Given the description of an element on the screen output the (x, y) to click on. 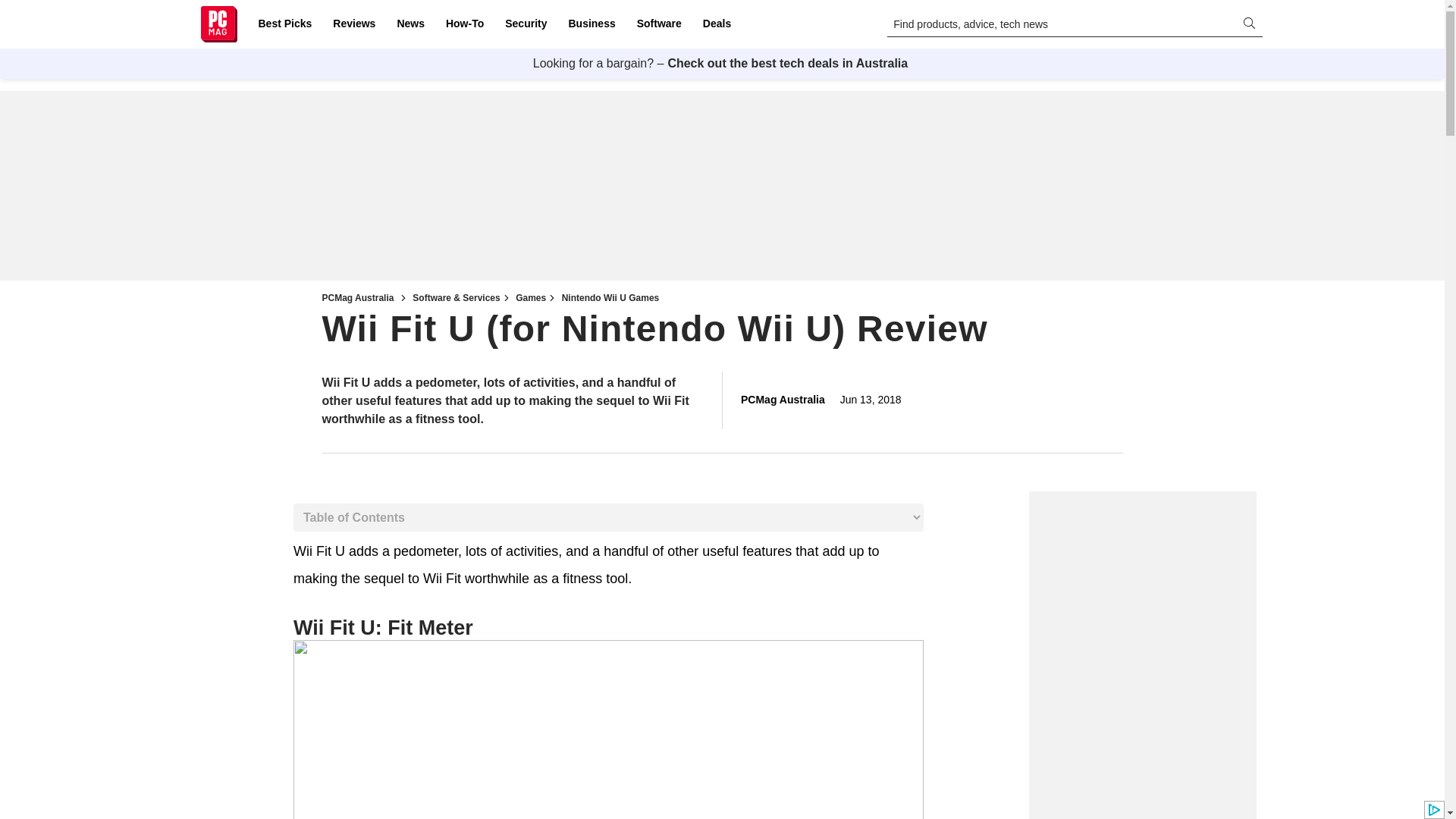
Business (591, 24)
Best Picks (284, 24)
Security (526, 24)
How-To (464, 24)
Reviews (353, 24)
